Given the description of an element on the screen output the (x, y) to click on. 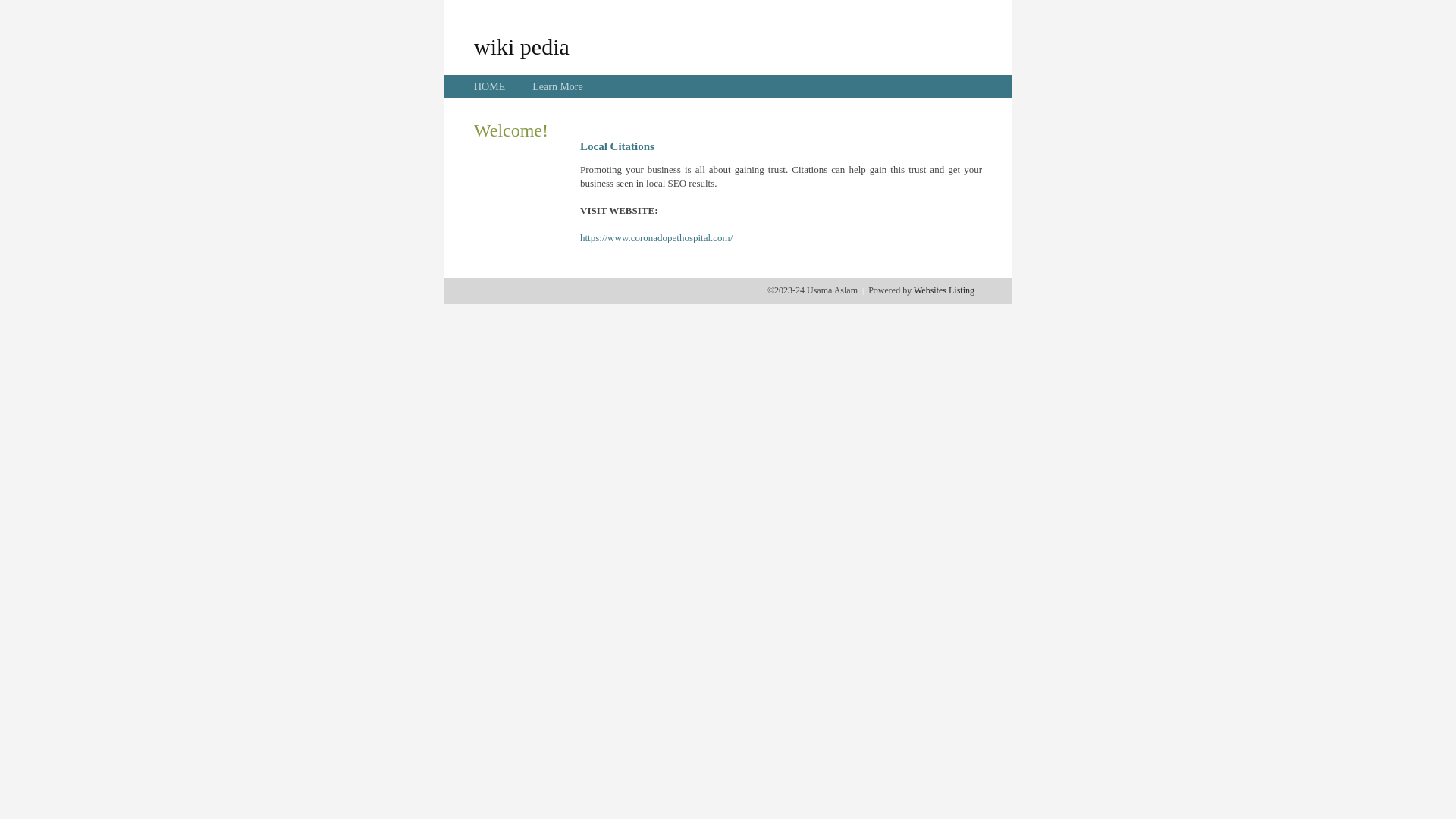
https://www.coronadopethospital.com/ Element type: text (656, 237)
wiki pedia Element type: text (521, 46)
HOME Element type: text (489, 86)
Websites Listing Element type: text (943, 290)
Learn More Element type: text (557, 86)
